Given the description of an element on the screen output the (x, y) to click on. 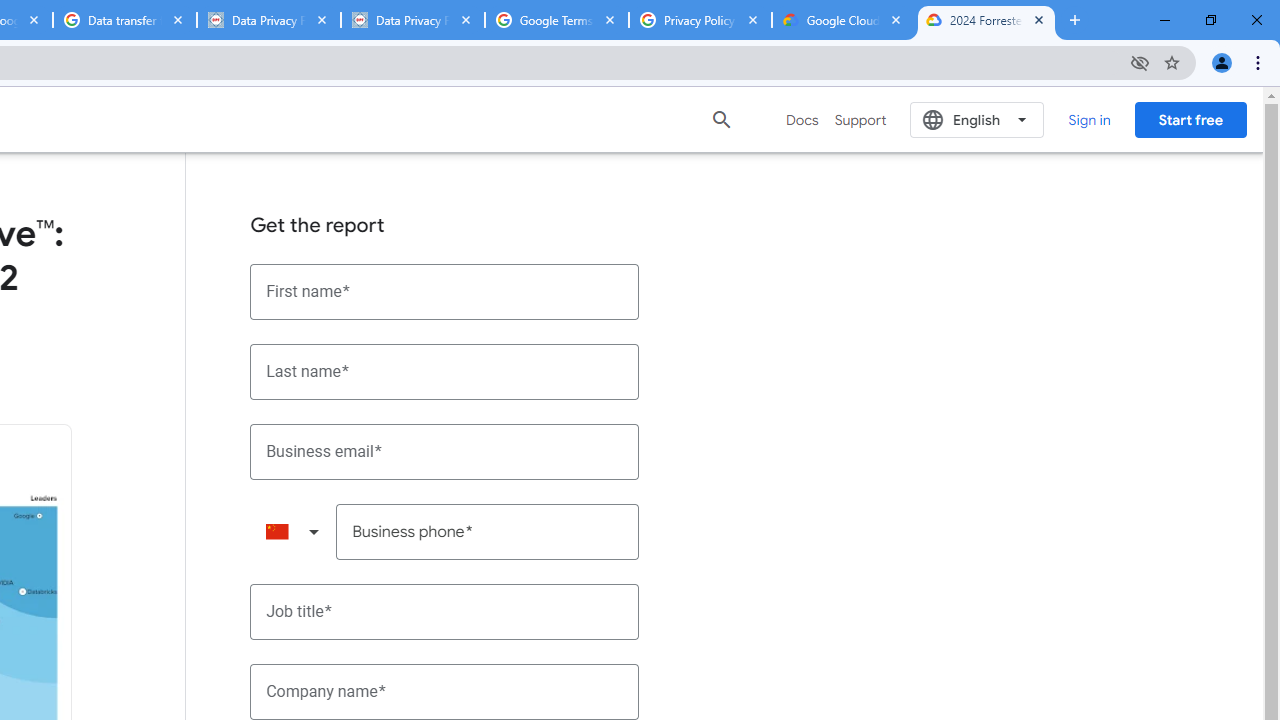
Business email* (445, 451)
Google Cloud Privacy Notice (843, 20)
Data Privacy Framework (412, 20)
Company name* (445, 691)
Start free (1190, 119)
